Given the description of an element on the screen output the (x, y) to click on. 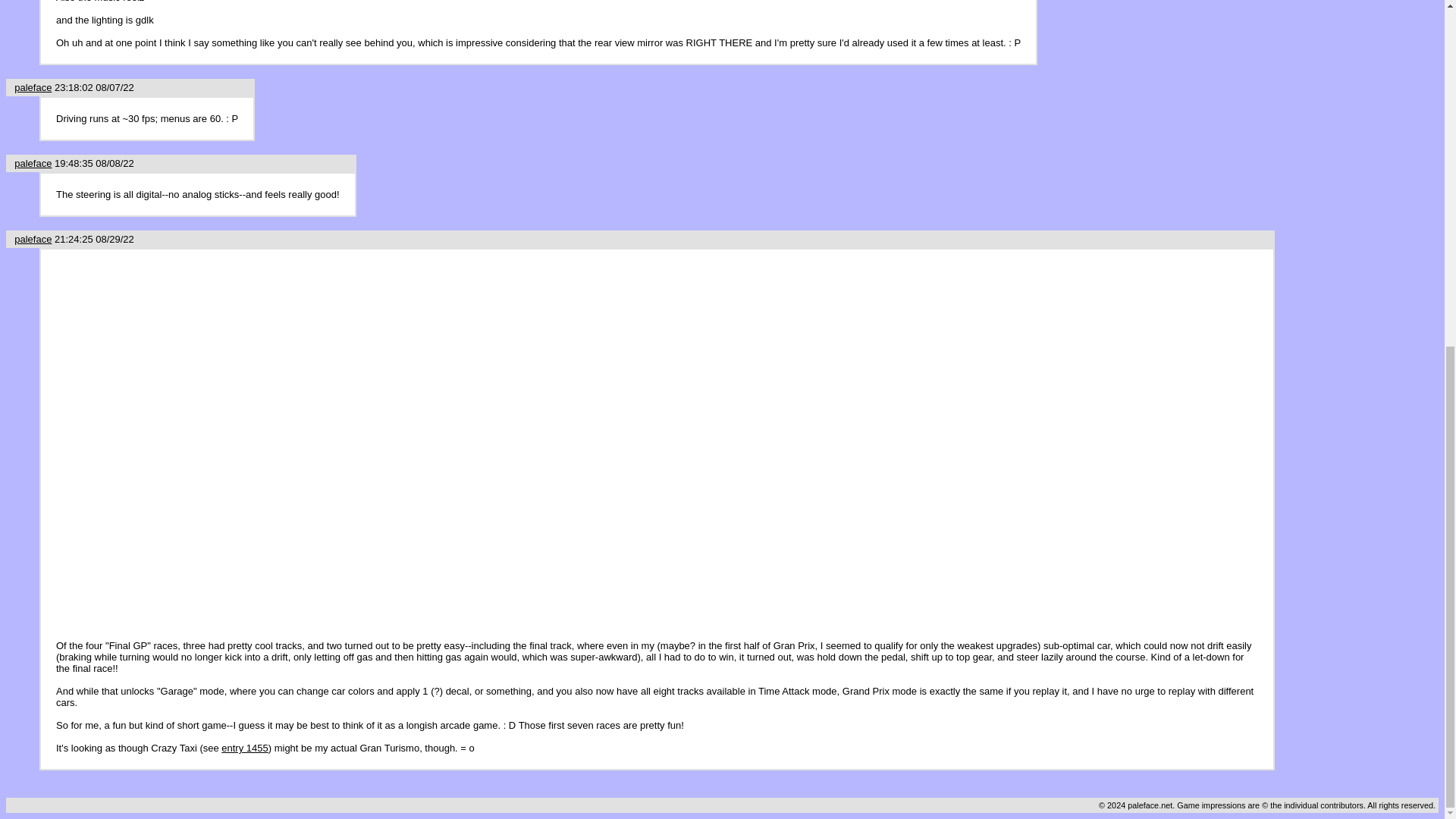
entry 1455 (244, 747)
paleface (32, 87)
paleface (32, 238)
paleface (32, 163)
